Given the description of an element on the screen output the (x, y) to click on. 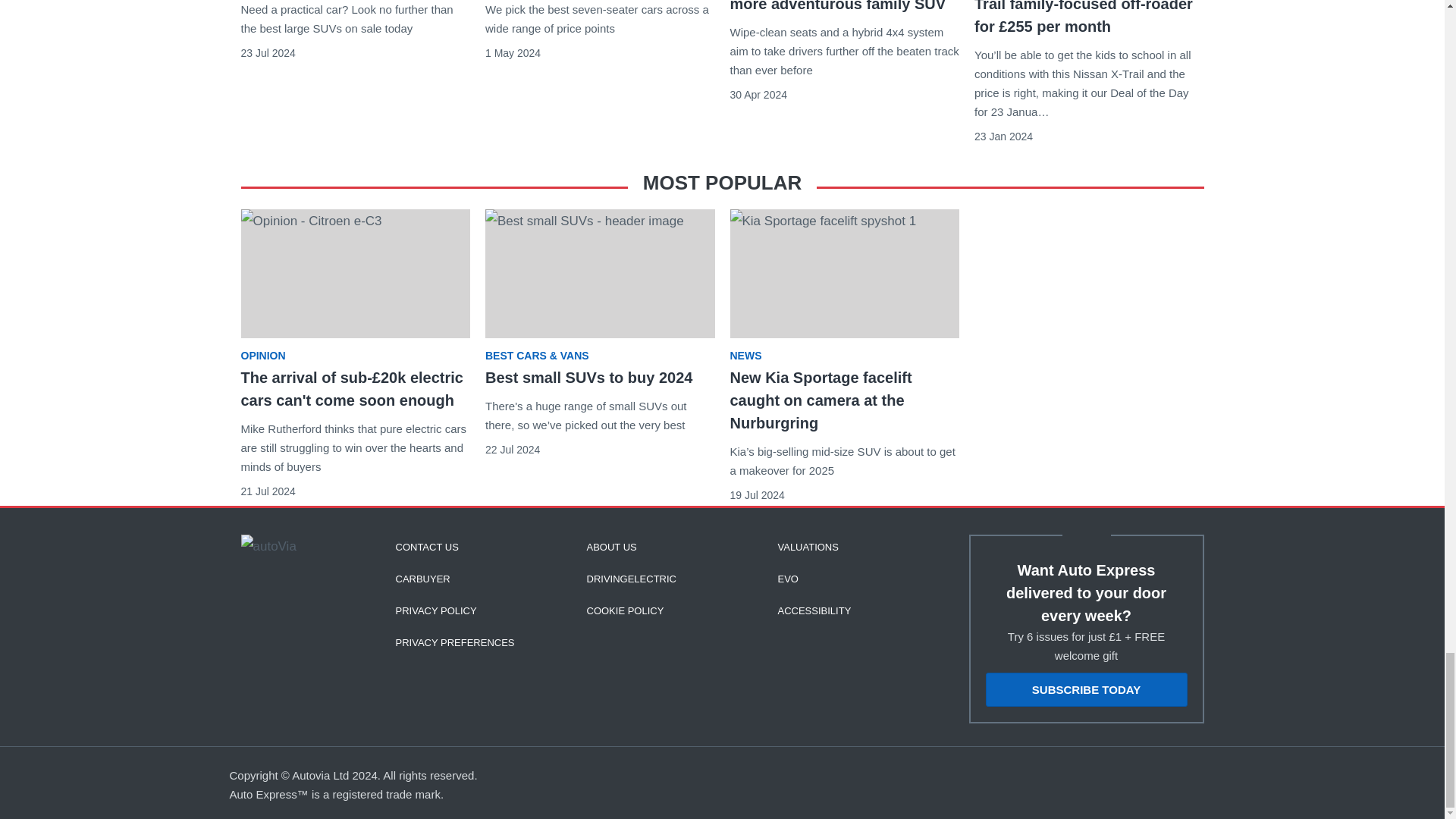
SUBSCRIBE TODAY (1086, 689)
